Given the description of an element on the screen output the (x, y) to click on. 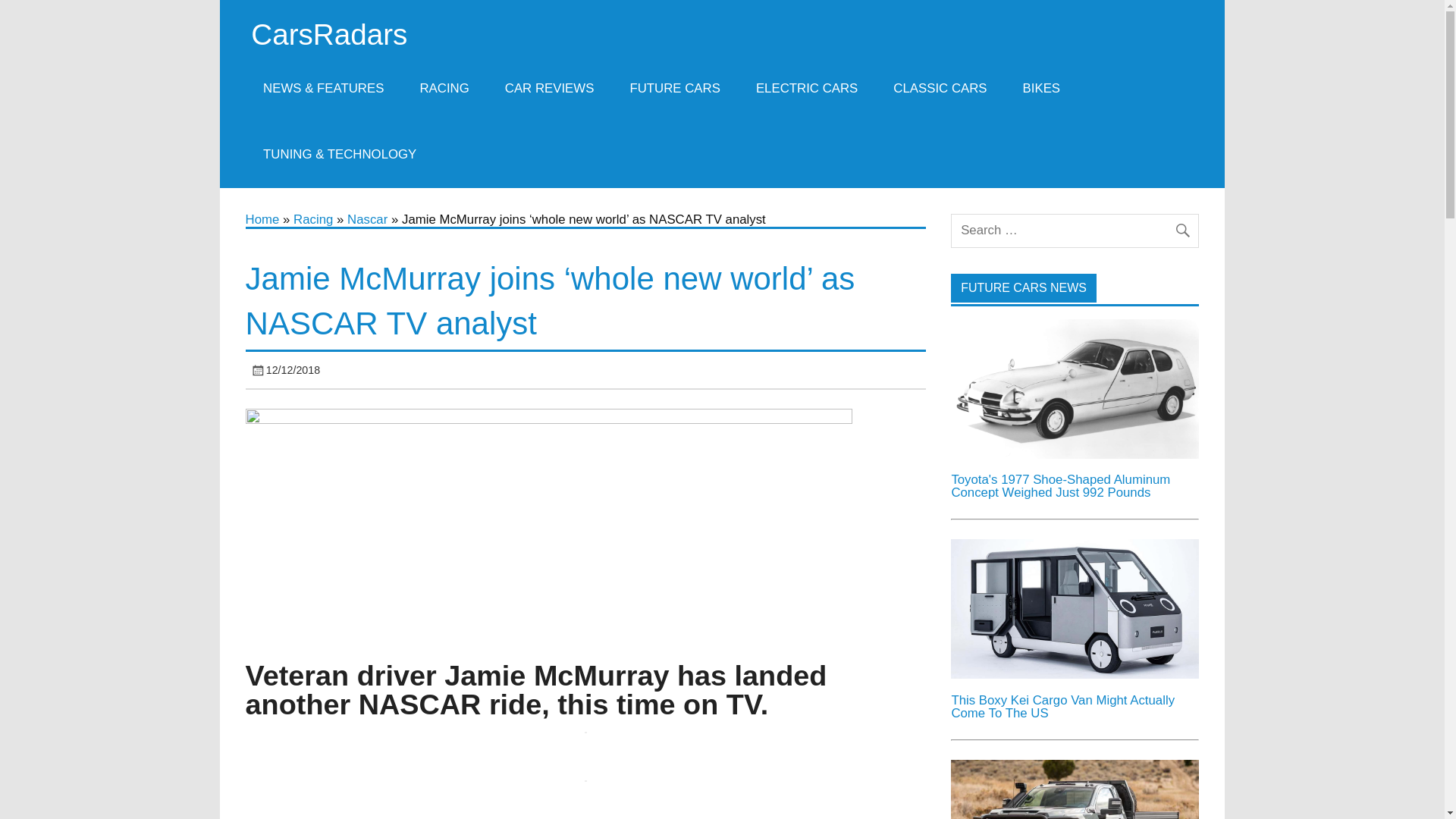
BIKES (1041, 88)
ELECTRIC CARS (806, 88)
This Boxy Kei Cargo Van Might Actually Come To The US (1074, 674)
Home (262, 219)
Nascar (367, 219)
RACING (443, 88)
This Boxy Kei Cargo Van Might Actually Come To The US (1062, 706)
CarsRadars (328, 34)
Racing (313, 219)
This Boxy Kei Cargo Van Might Actually Come To The US (1074, 608)
CLASSIC CARS (940, 88)
FUTURE CARS (674, 88)
